Given the description of an element on the screen output the (x, y) to click on. 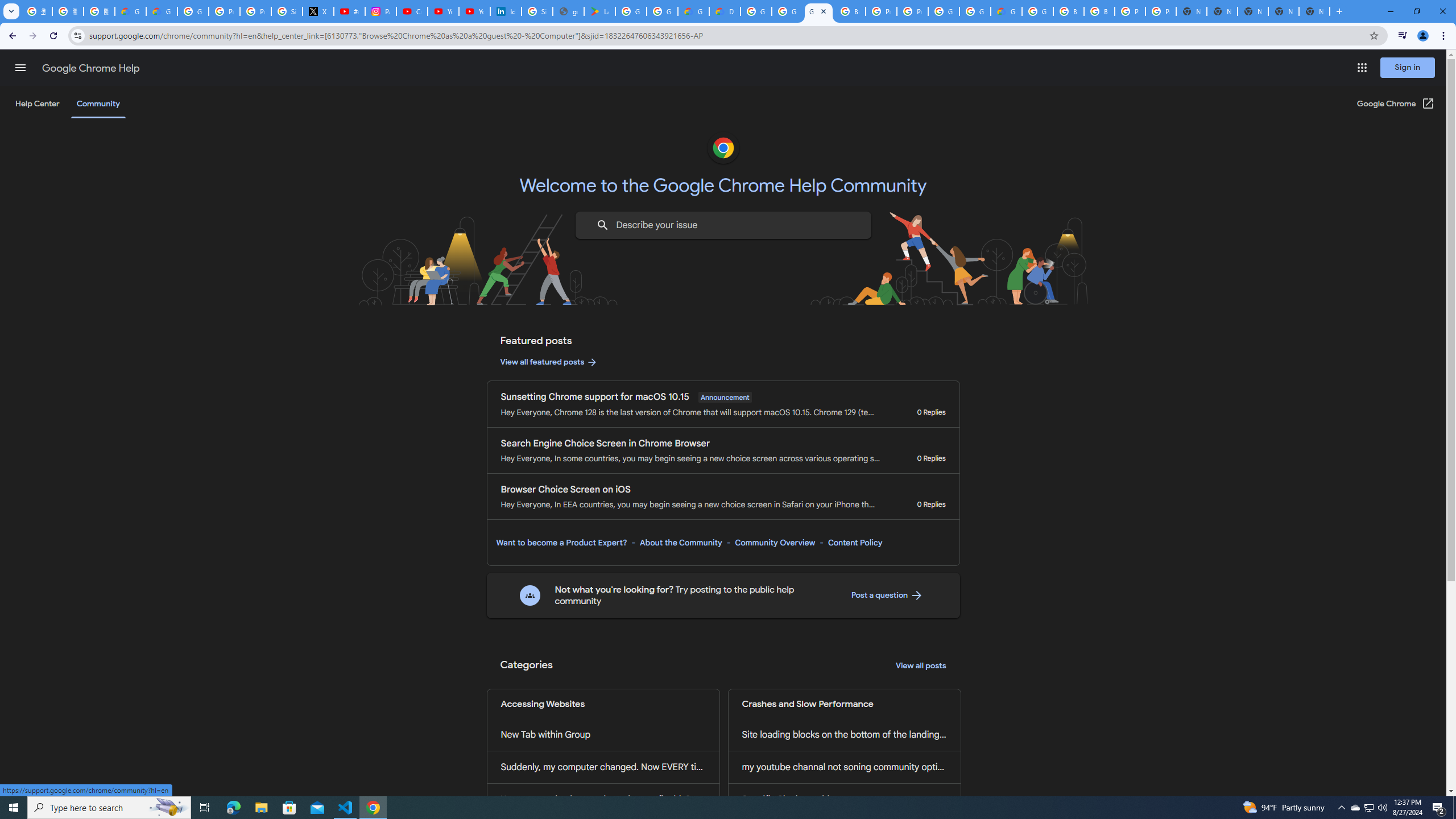
Sign in - Google Accounts (286, 11)
Google Cloud Platform (943, 11)
Help Center (36, 103)
Google Cloud Platform (756, 11)
Back (10, 35)
Community Overview (775, 542)
Minimize (1390, 11)
Content Policy (854, 542)
New Tab (1314, 11)
